Given the description of an element on the screen output the (x, y) to click on. 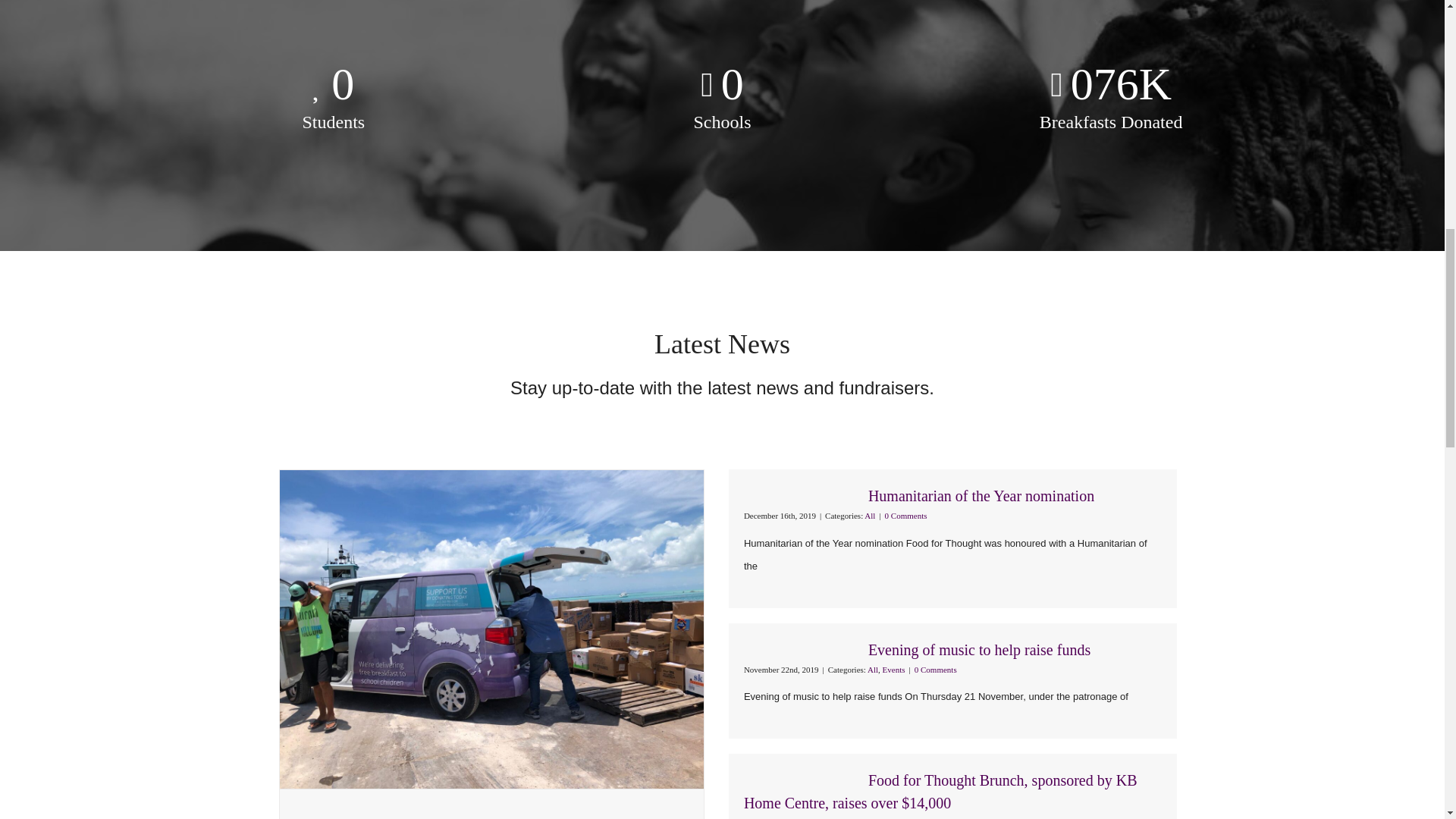
0 Comments (935, 669)
0 Comments (906, 515)
All (872, 669)
Evening of music to help raise funds (978, 649)
Humanitarian of the Year nomination (980, 495)
Events (893, 669)
All (869, 515)
Working with NGOs Together (389, 817)
